Given the description of an element on the screen output the (x, y) to click on. 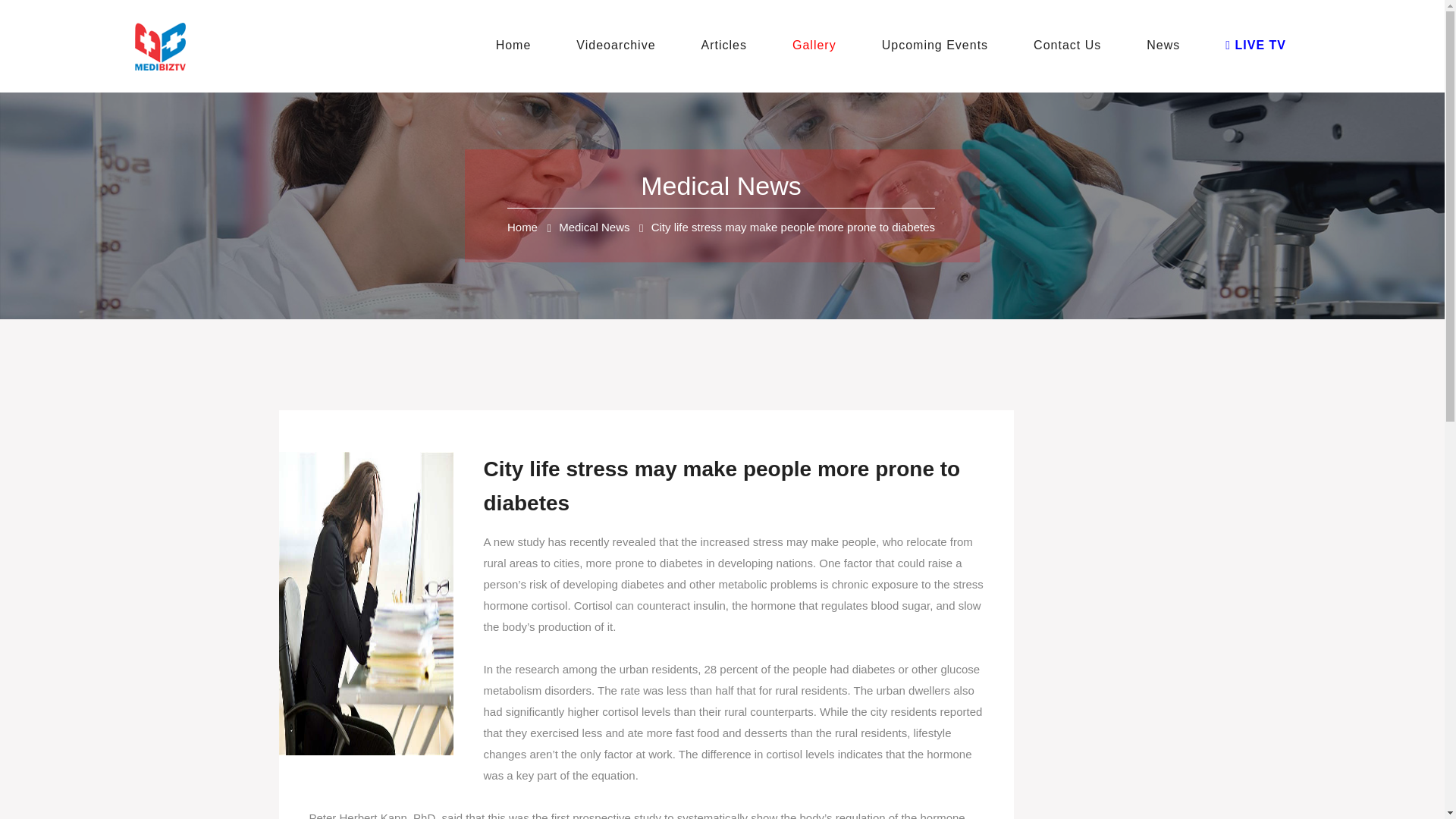
diabetes (681, 562)
LIVE TV (1262, 46)
Contact Us (1074, 46)
Gallery (821, 46)
Medical News (593, 226)
News (1170, 46)
Articles (730, 46)
Videoarchive (622, 46)
Upcoming Events (941, 46)
stress (767, 541)
Home (520, 46)
Home (521, 226)
